Given the description of an element on the screen output the (x, y) to click on. 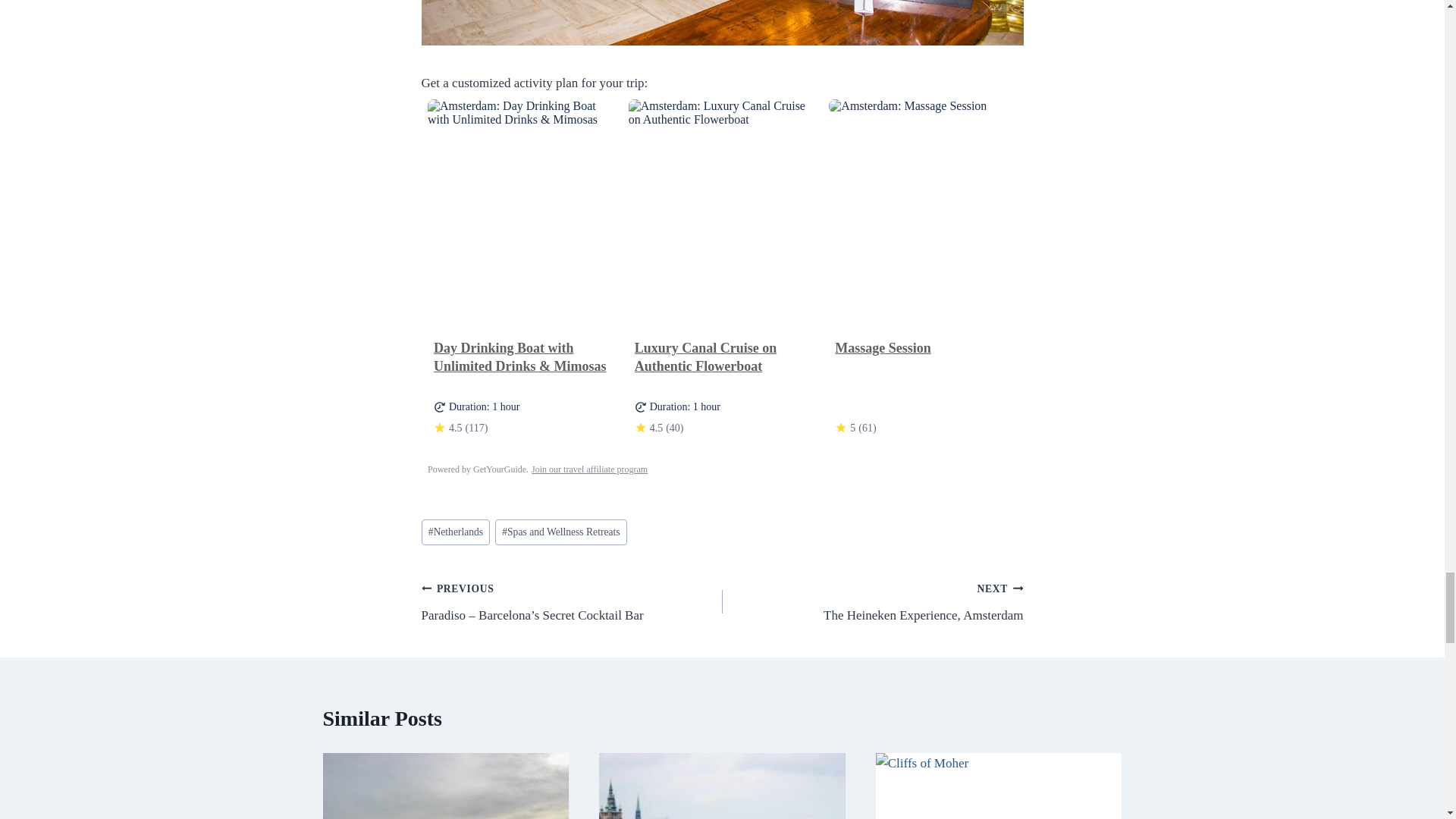
Spas and Wellness Retreats (561, 532)
Netherlands (456, 532)
